Given the description of an element on the screen output the (x, y) to click on. 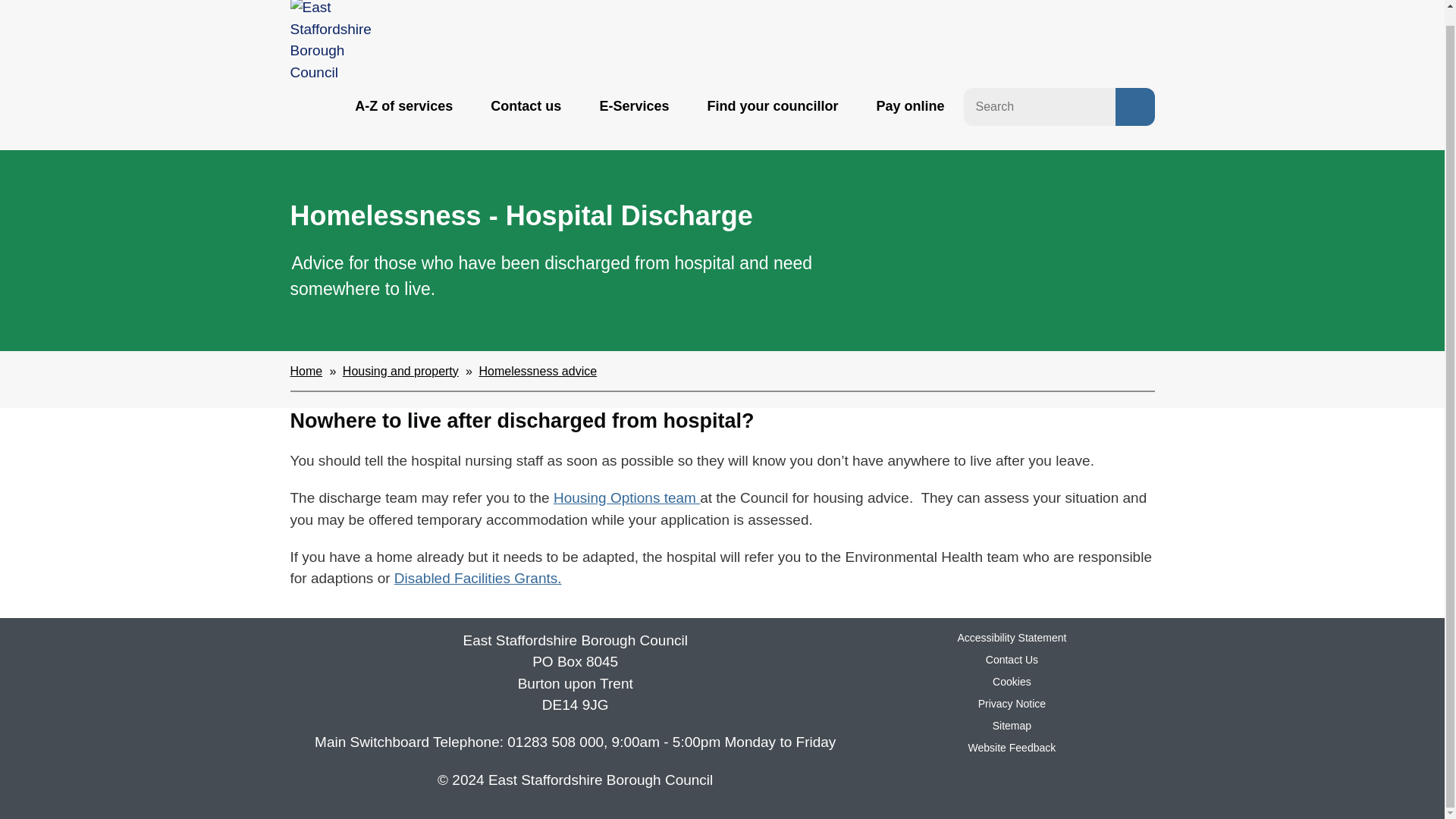
Cookies (1011, 681)
Housing and property (400, 370)
Housing Options team (626, 497)
Contact us (525, 106)
Apply (1134, 106)
E-Services (633, 106)
Pay online (909, 106)
Disabled Facilities Grants. (478, 578)
Website Feedback (1012, 747)
Contact Us (1011, 659)
Accessibility Statement (1010, 637)
Home (305, 370)
A-Z of services (403, 106)
Privacy Notice (1011, 703)
Homelessness advice (537, 370)
